Given the description of an element on the screen output the (x, y) to click on. 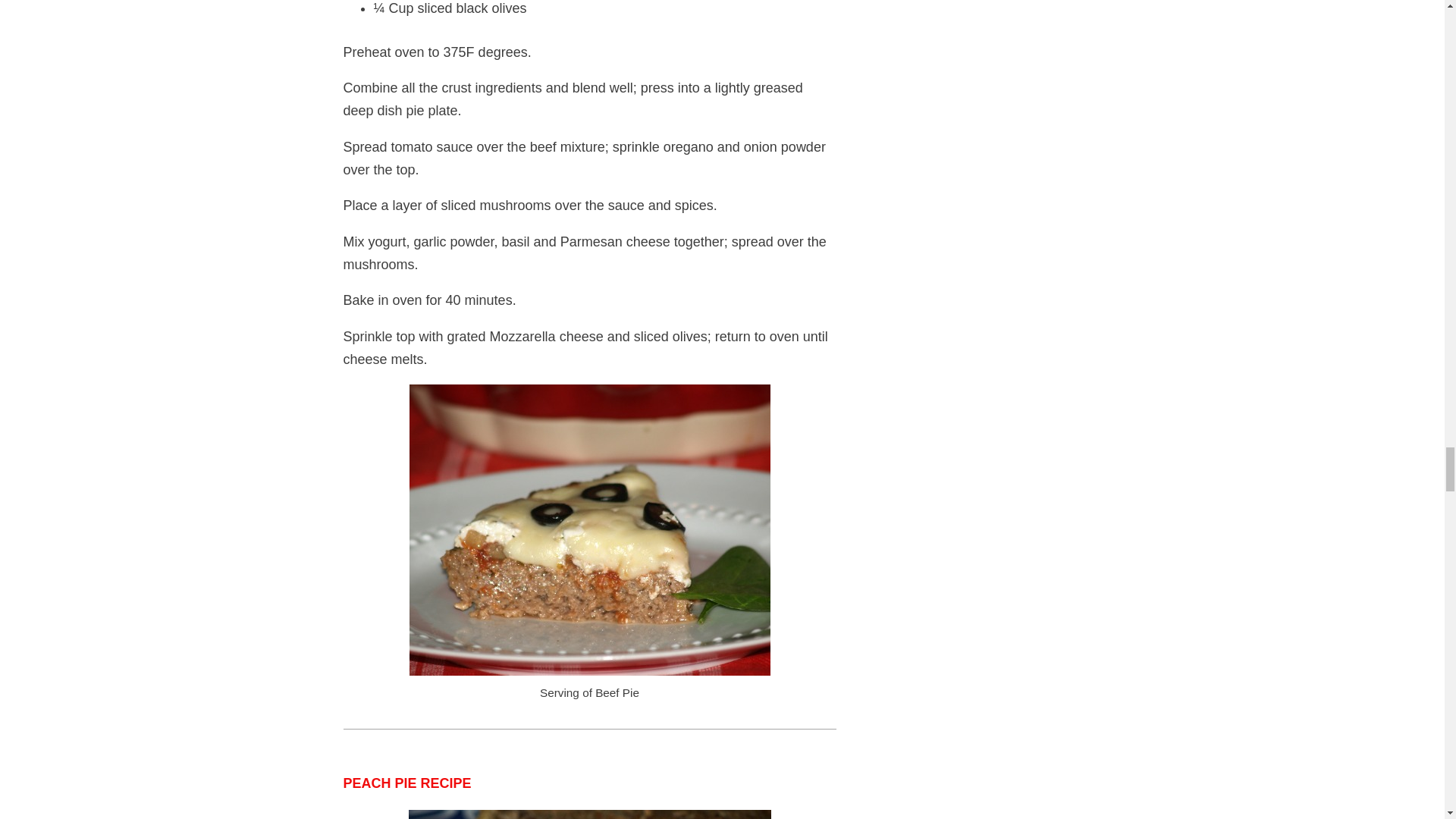
Peach Yogurt Pie Recipe (588, 814)
Serving of Beef Pie (589, 529)
